Given the description of an element on the screen output the (x, y) to click on. 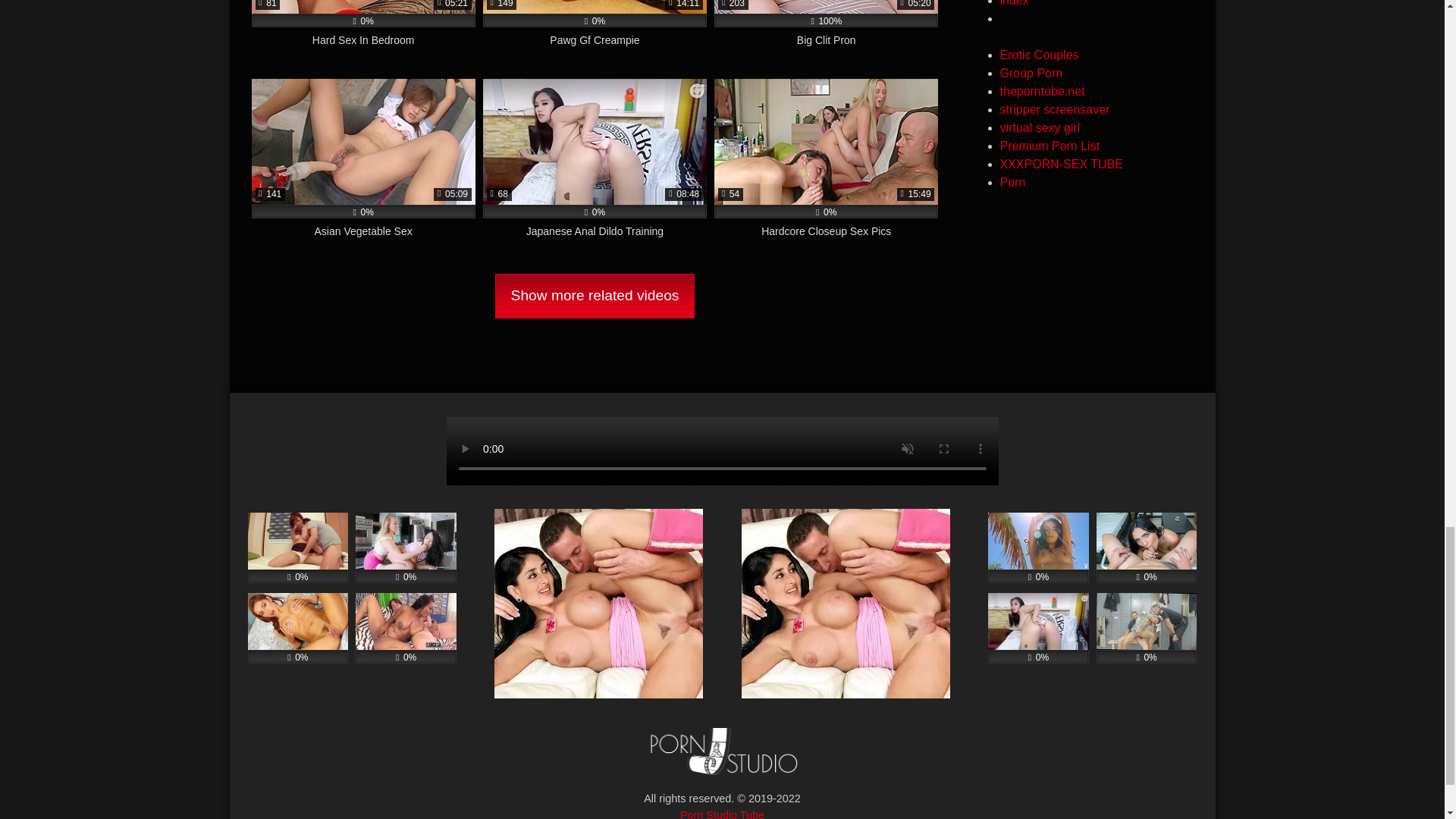
Show more related videos (594, 296)
Hard Sex In Bedroom (363, 32)
Japanese Anal Dildo Training (594, 166)
Big Clit Pron (825, 32)
Asian Vegetable Sex (363, 166)
Pawg Gf Creampie (594, 32)
